Given the description of an element on the screen output the (x, y) to click on. 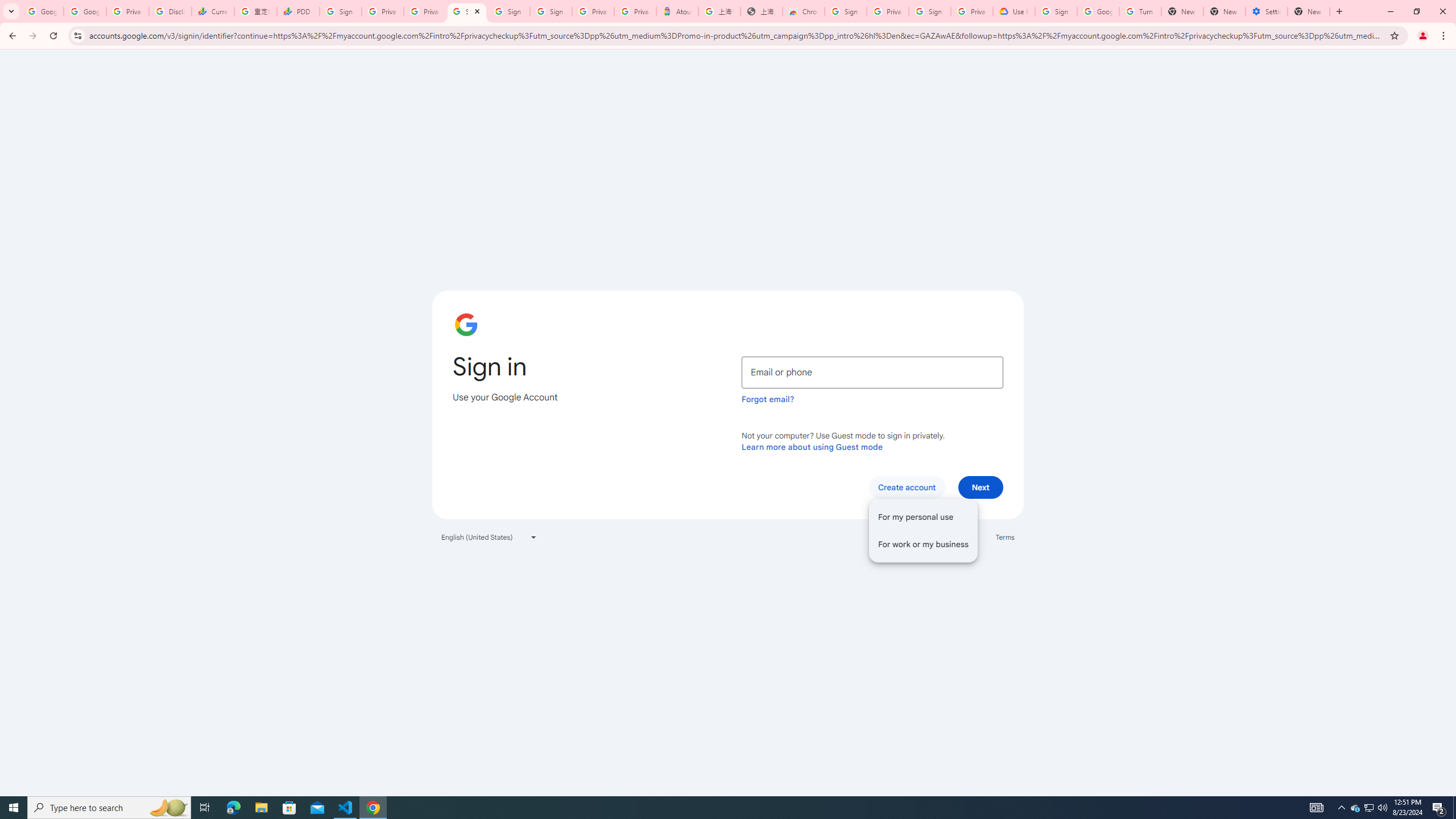
Turn cookies on or off - Computer - Google Account Help (1139, 11)
New Tab (1308, 11)
Google Account Help (1097, 11)
Settings - System (1266, 11)
Next (980, 486)
Email or phone (872, 372)
Create account (905, 486)
